Given the description of an element on the screen output the (x, y) to click on. 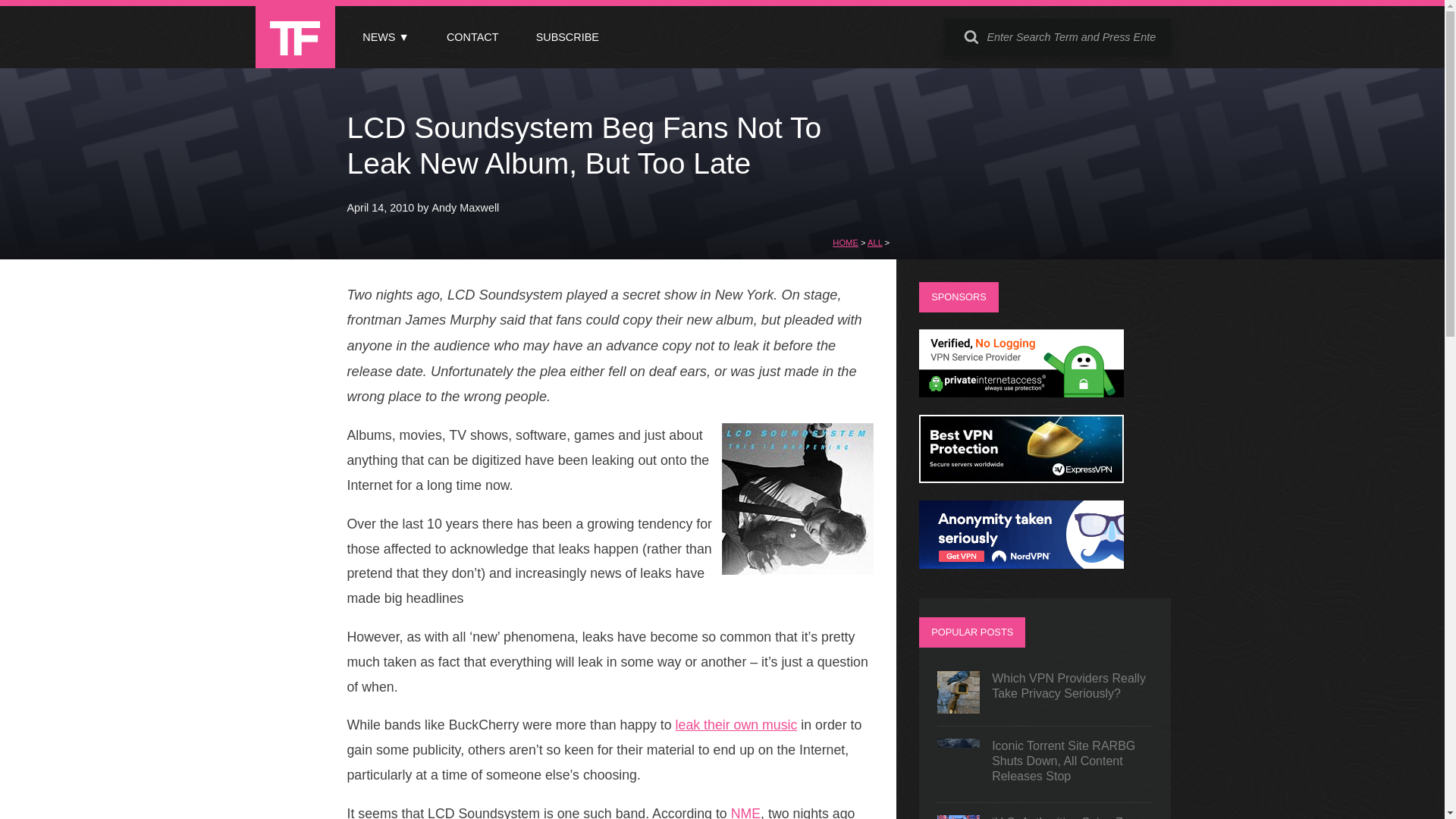
leak their own music (736, 724)
Go to the All category archives. (874, 242)
Which VPN Providers Really Take Privacy Seriously? (1045, 691)
SUBSCRIBE (566, 37)
ExpressVPN (1021, 478)
ALL (874, 242)
NME (745, 812)
Andy Maxwell (465, 207)
CONTACT (471, 37)
Go to TorrentFreak. (845, 242)
